Given the description of an element on the screen output the (x, y) to click on. 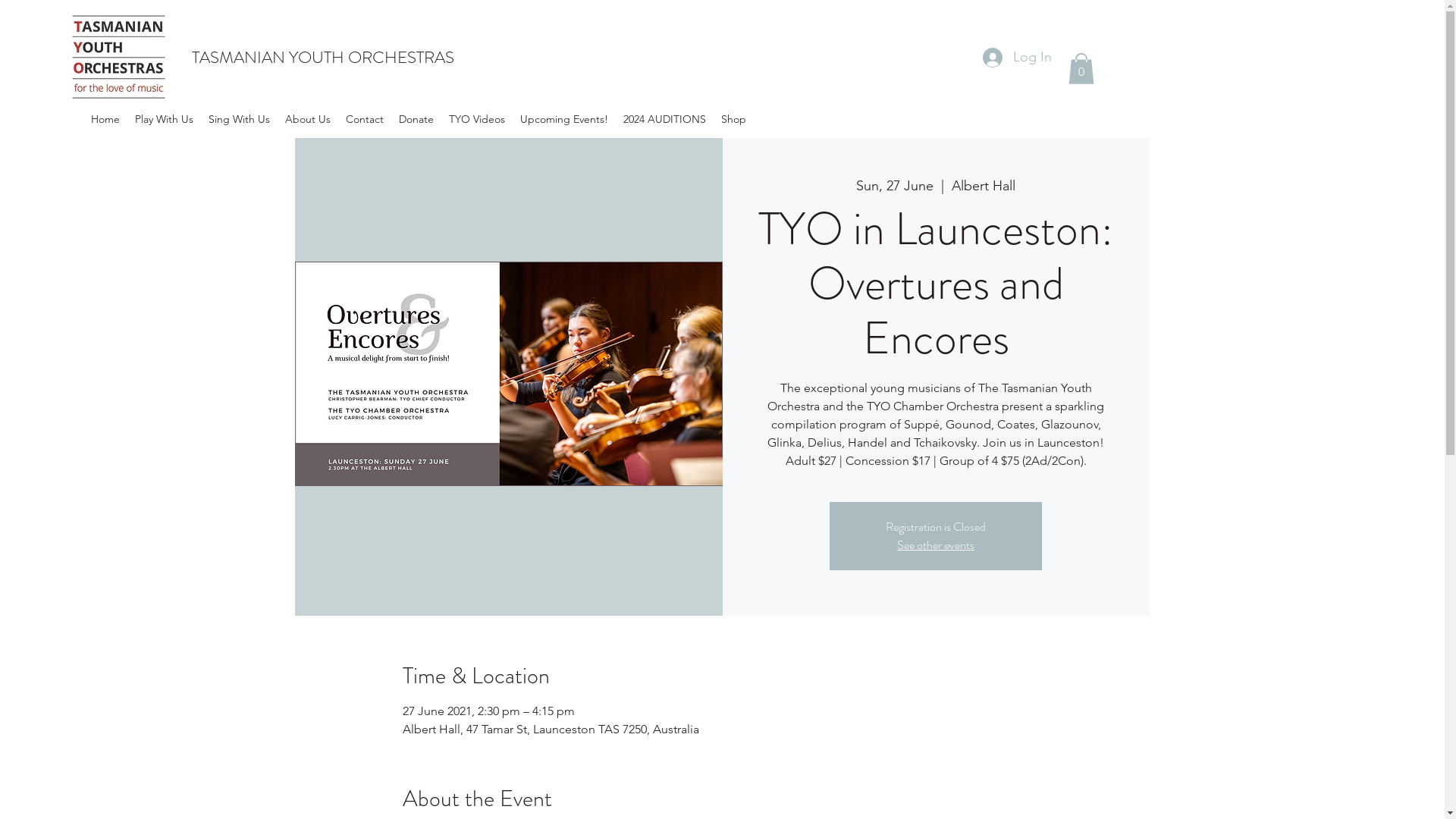
2024 AUDITIONS Element type: text (664, 119)
Upcoming Events! Element type: text (563, 119)
Sing With Us Element type: text (238, 119)
TASMANIAN YOUTH ORCHESTRAS Element type: text (322, 57)
Play With Us Element type: text (163, 119)
Log In Element type: text (1017, 57)
Contact Element type: text (364, 119)
Home Element type: text (105, 119)
0 Element type: text (1080, 68)
Shop Element type: text (733, 119)
Donate Element type: text (416, 119)
About Us Element type: text (307, 119)
See other events Element type: text (935, 544)
TYO Videos Element type: text (476, 119)
